Given the description of an element on the screen output the (x, y) to click on. 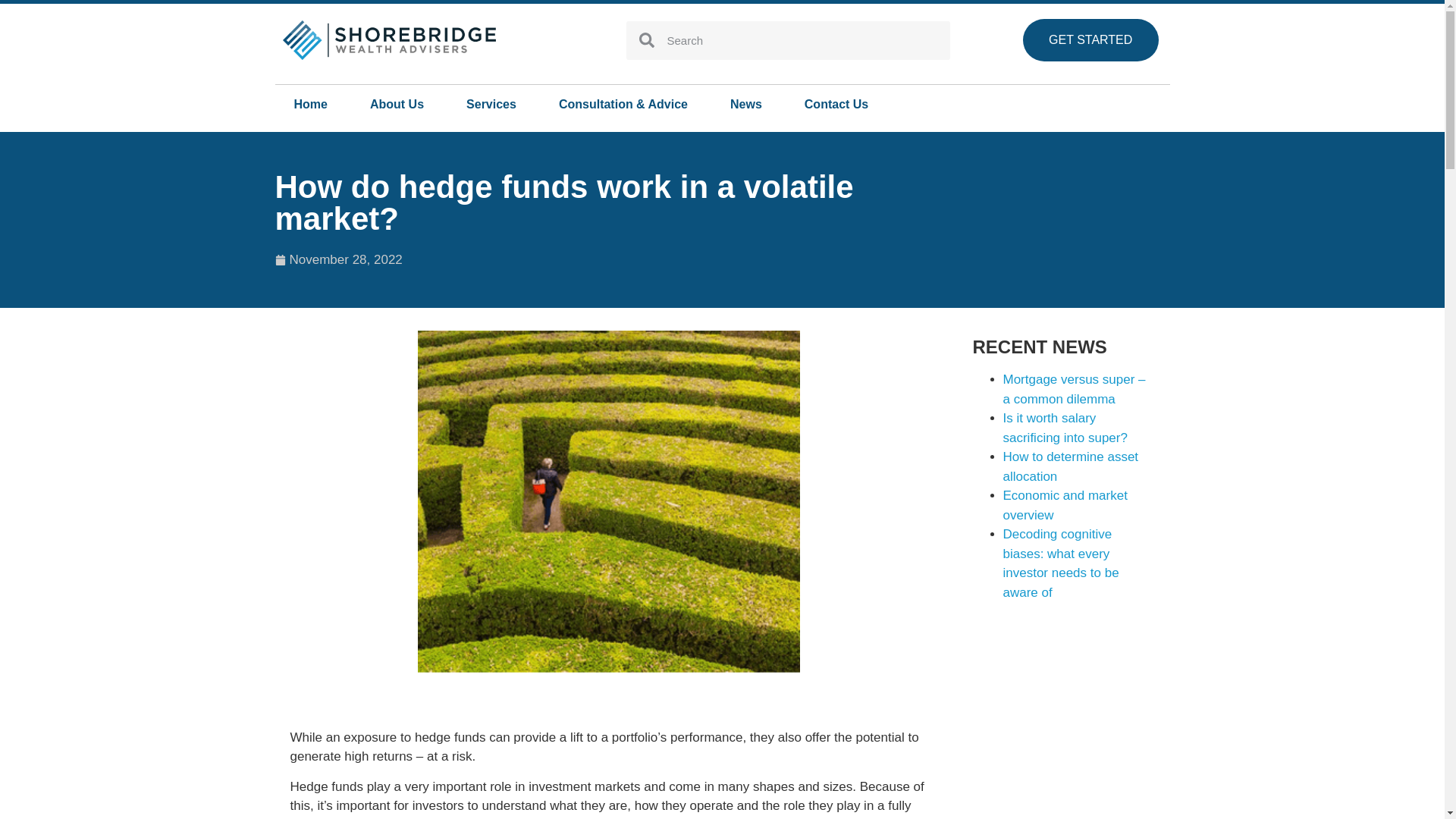
About Us (396, 104)
GET STARTED (1090, 39)
Home (310, 104)
Services (490, 104)
